Given the description of an element on the screen output the (x, y) to click on. 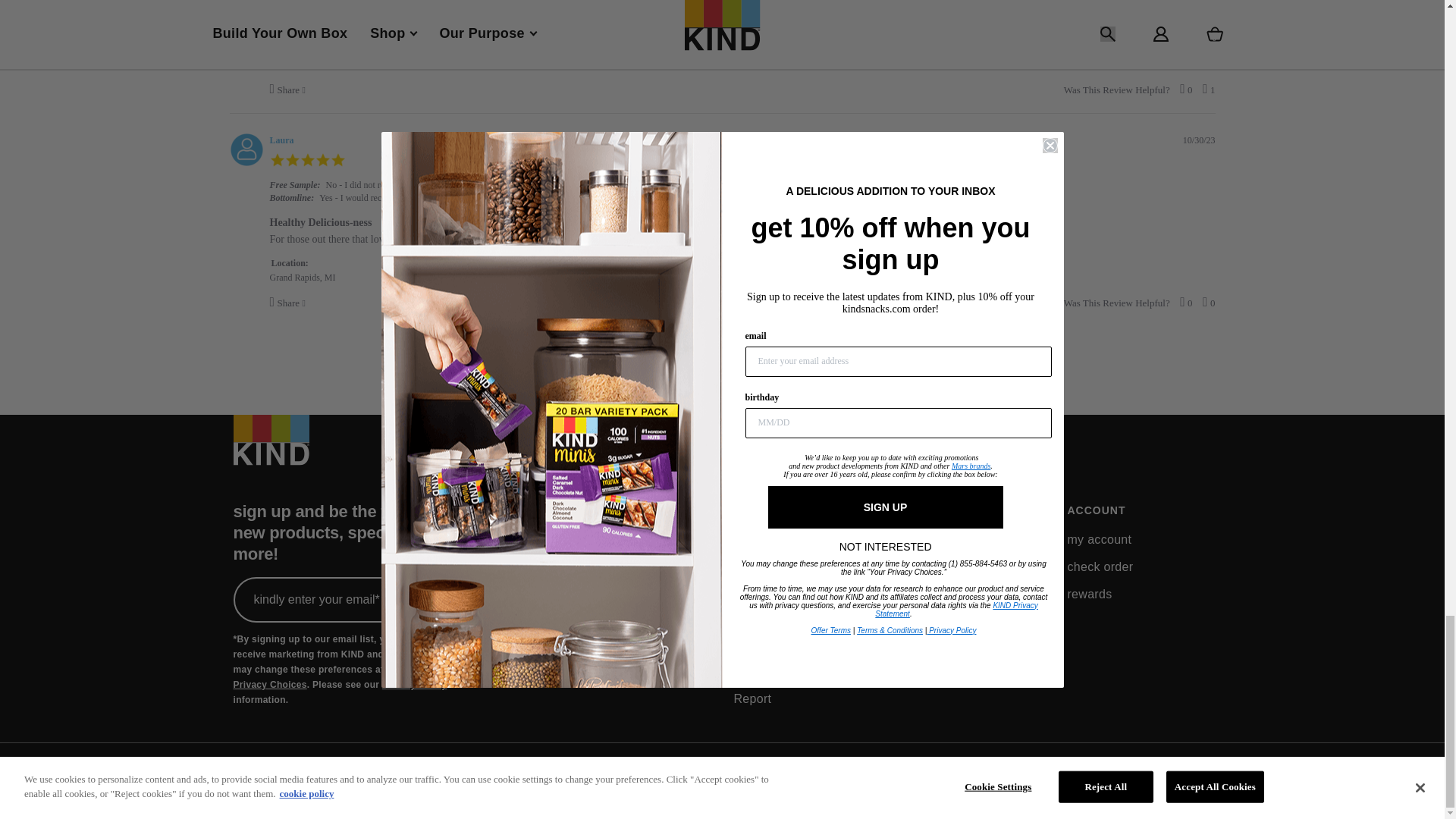
Shop All Products (588, 539)
KIND foundation (763, 539)
Go to About Us (805, 510)
Go to My Account (1099, 539)
Go to Contact Us (948, 539)
Wholesale (594, 567)
Go to the Media Center (769, 649)
KIND Snacks Home (270, 449)
Go to Careers (753, 621)
KIND foundation (779, 567)
Go to Our Founder (765, 594)
Go to Check Order (1099, 567)
